Given the description of an element on the screen output the (x, y) to click on. 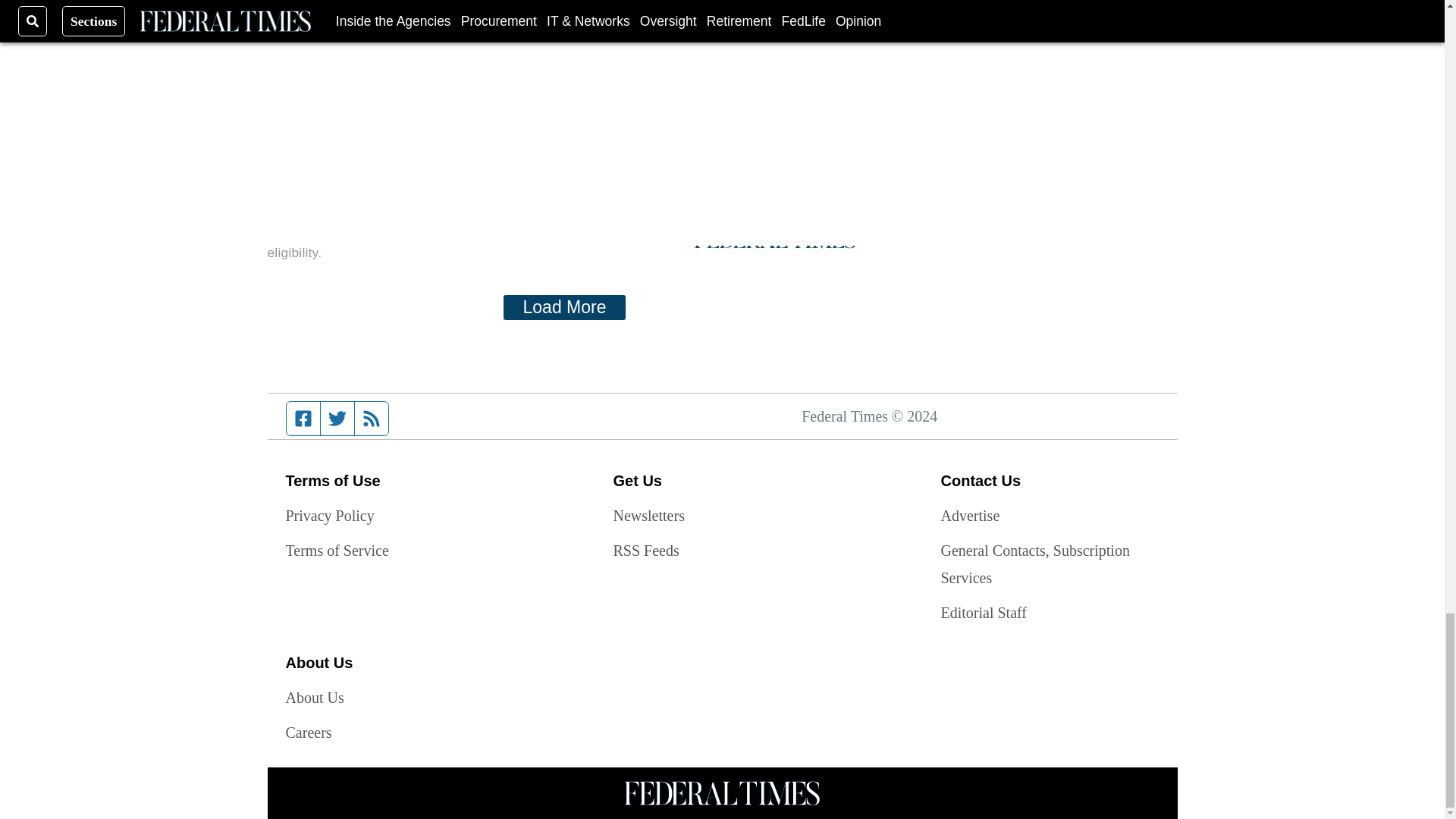
RSS feed (371, 418)
Facebook page (303, 418)
Twitter feed (336, 418)
